Given the description of an element on the screen output the (x, y) to click on. 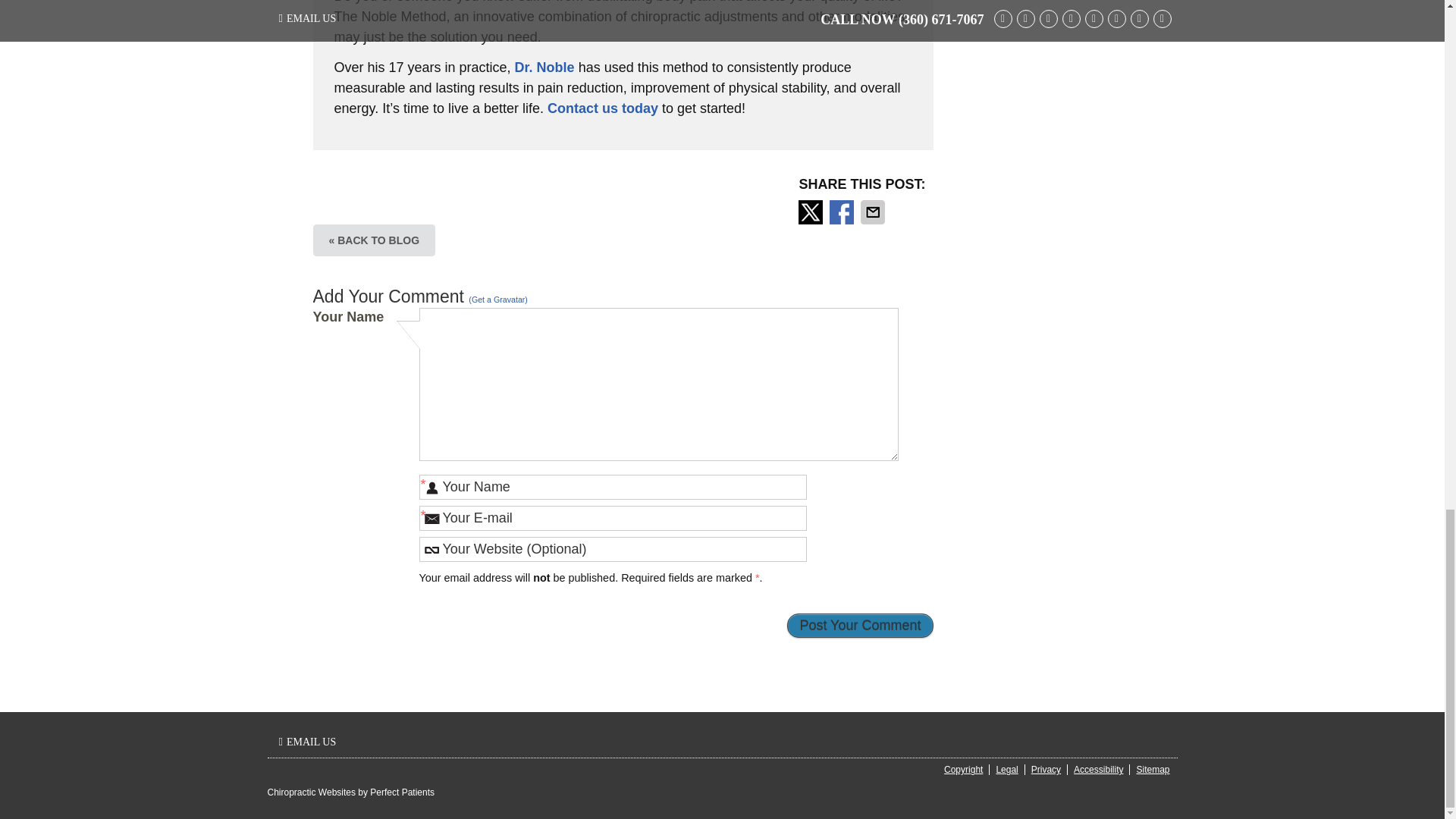
Your Name (612, 487)
Contact (306, 741)
Your Name (612, 487)
Your E-mail (612, 518)
Your E-mail (612, 518)
Footer Links (1053, 769)
Post Your Comment (860, 625)
